Given the description of an element on the screen output the (x, y) to click on. 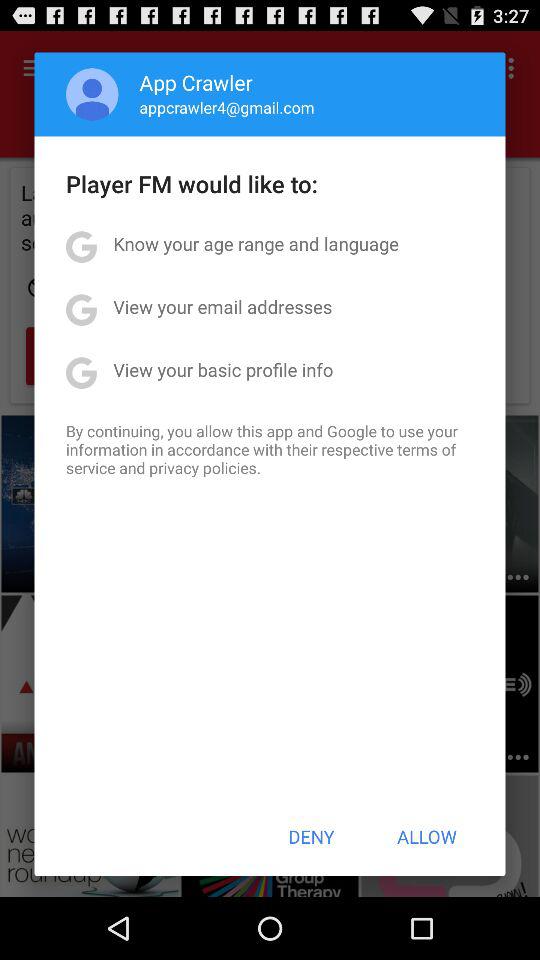
turn on know your age item (255, 243)
